Given the description of an element on the screen output the (x, y) to click on. 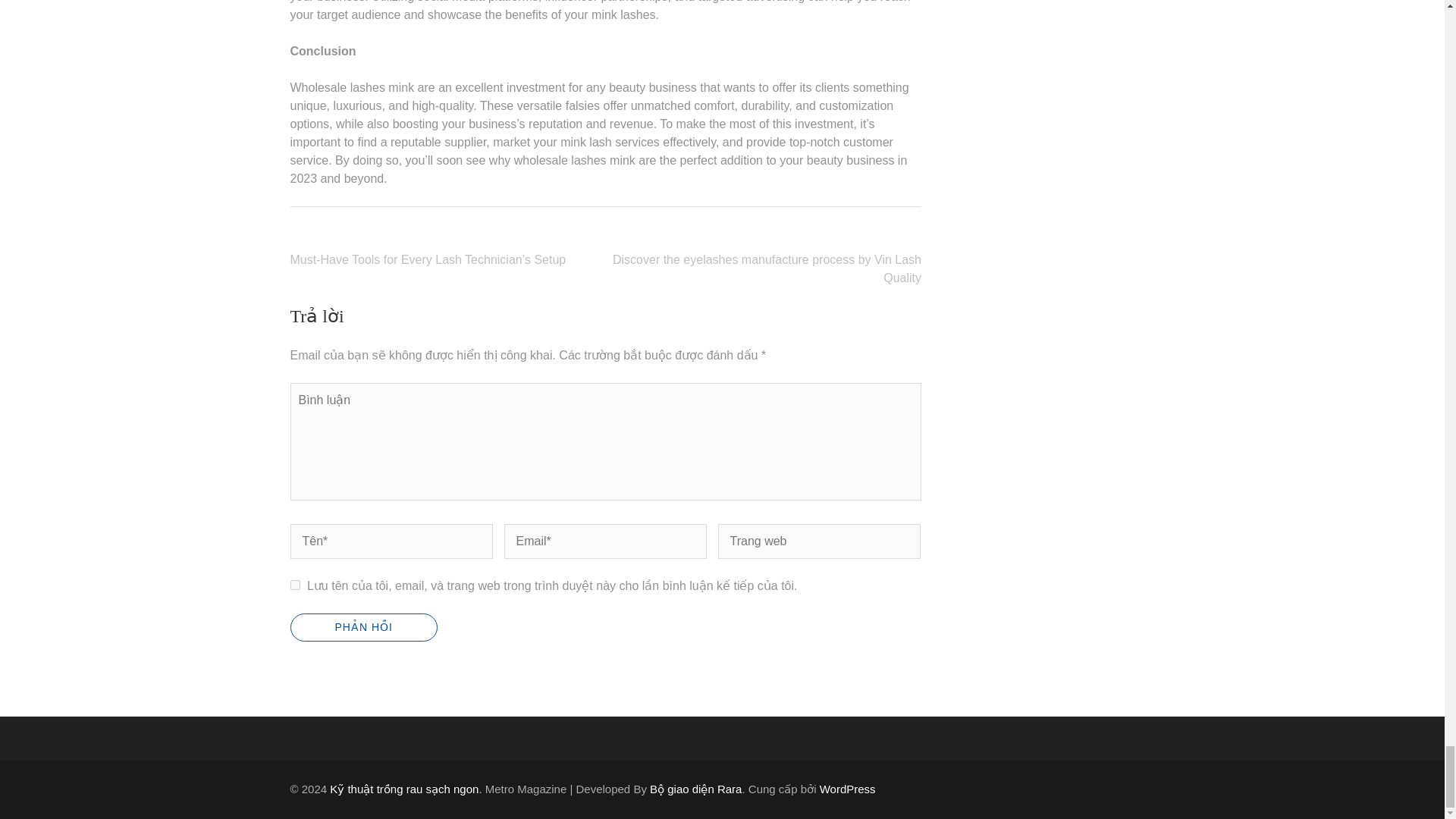
yes (294, 584)
